Given the description of an element on the screen output the (x, y) to click on. 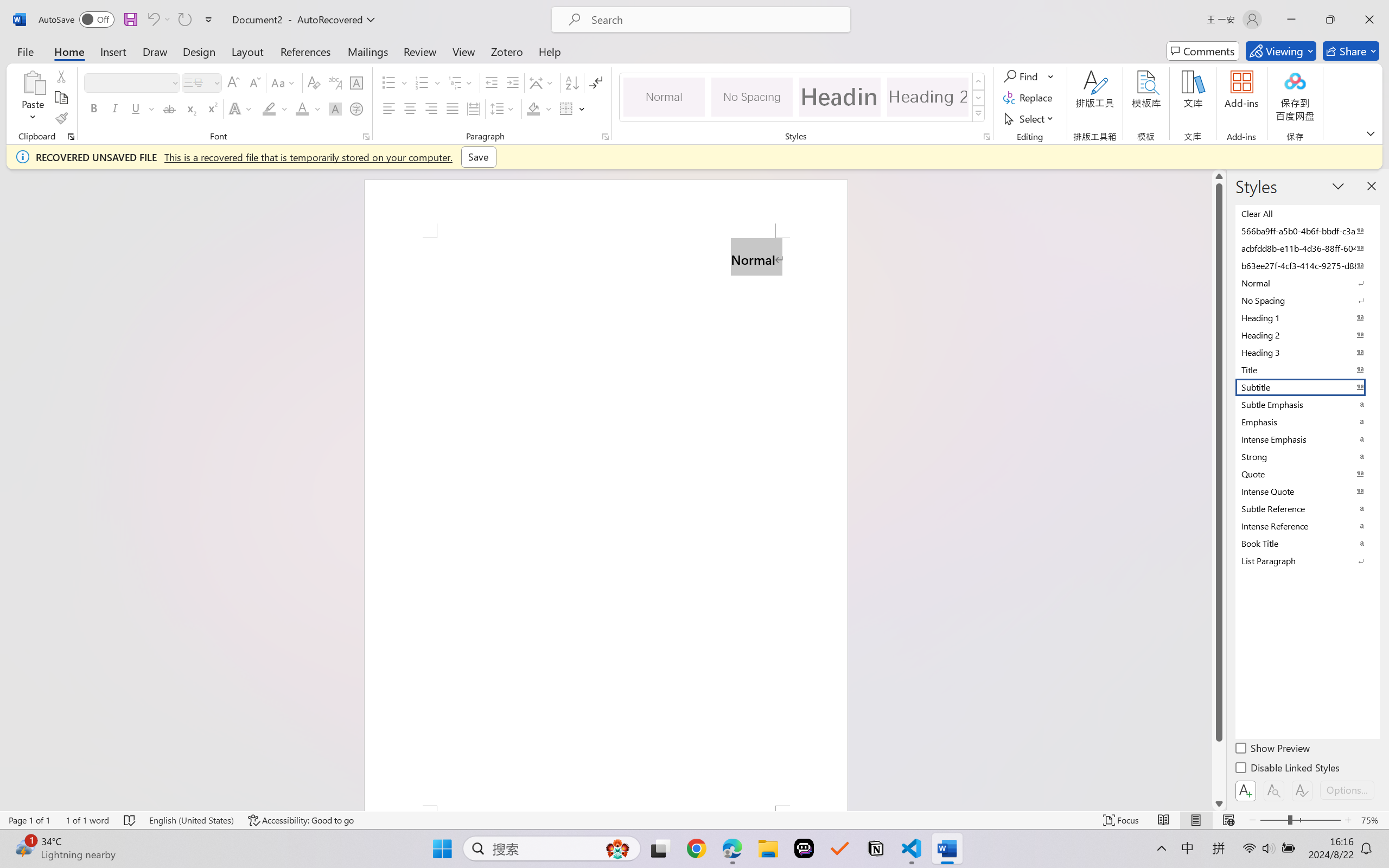
Line down (1219, 803)
Show/Hide Editing Marks (595, 82)
Heading 3 (1306, 352)
Heading 2 (927, 96)
Can't Undo (152, 19)
Options... (1346, 789)
Can't Undo (158, 19)
Change Case (284, 82)
Help (549, 51)
